Given the description of an element on the screen output the (x, y) to click on. 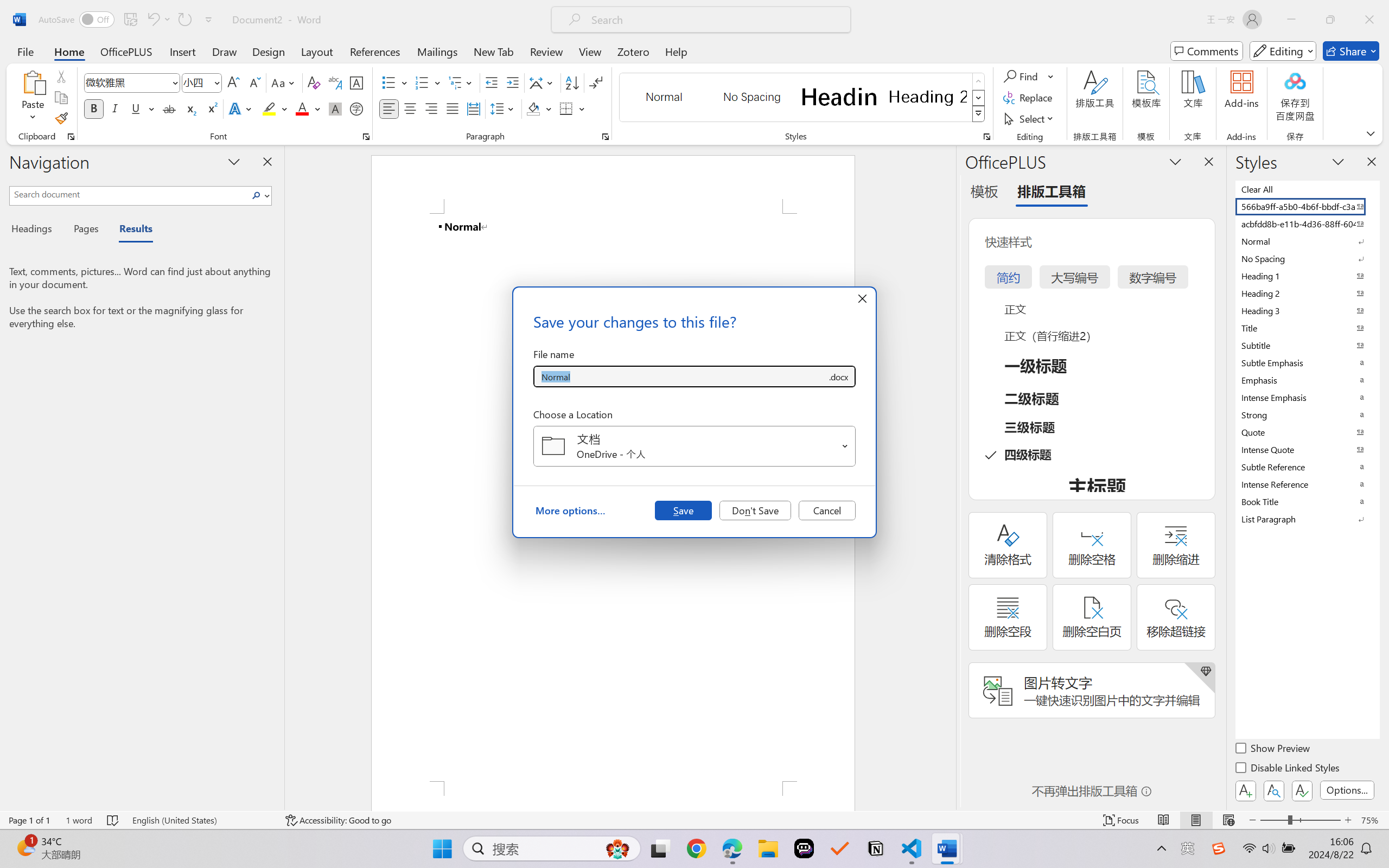
Show/Hide Editing Marks (595, 82)
Emphasis (1306, 379)
Font Color (308, 108)
Styles (978, 113)
Headings (35, 229)
Line and Paragraph Spacing (503, 108)
Strikethrough (169, 108)
Search document (128, 193)
Borders (571, 108)
Row Down (978, 97)
